Given the description of an element on the screen output the (x, y) to click on. 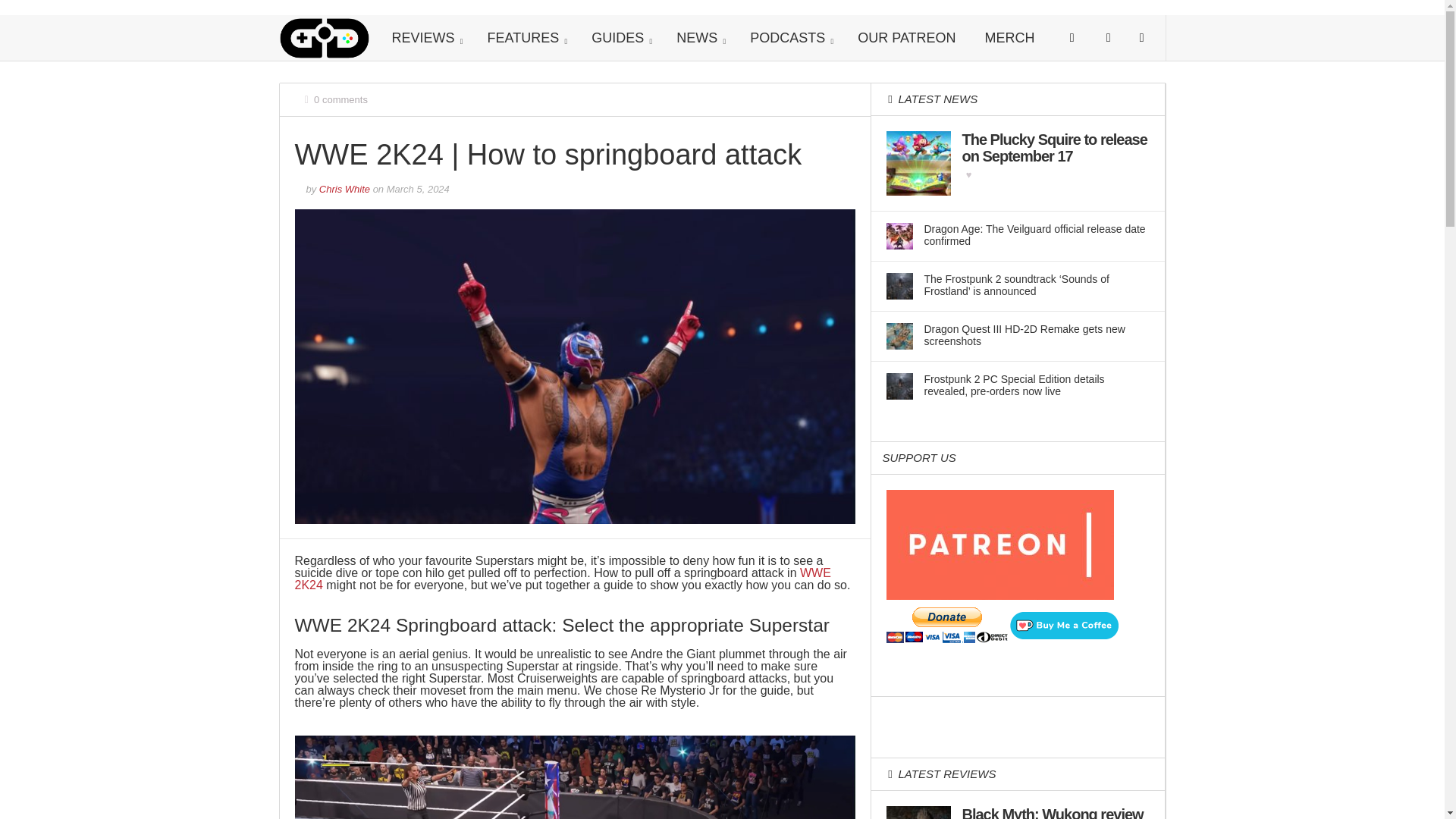
PODCASTS (789, 37)
GUIDES (619, 37)
FEATURES (525, 37)
NEWS (698, 37)
REVIEWS (425, 37)
